Given the description of an element on the screen output the (x, y) to click on. 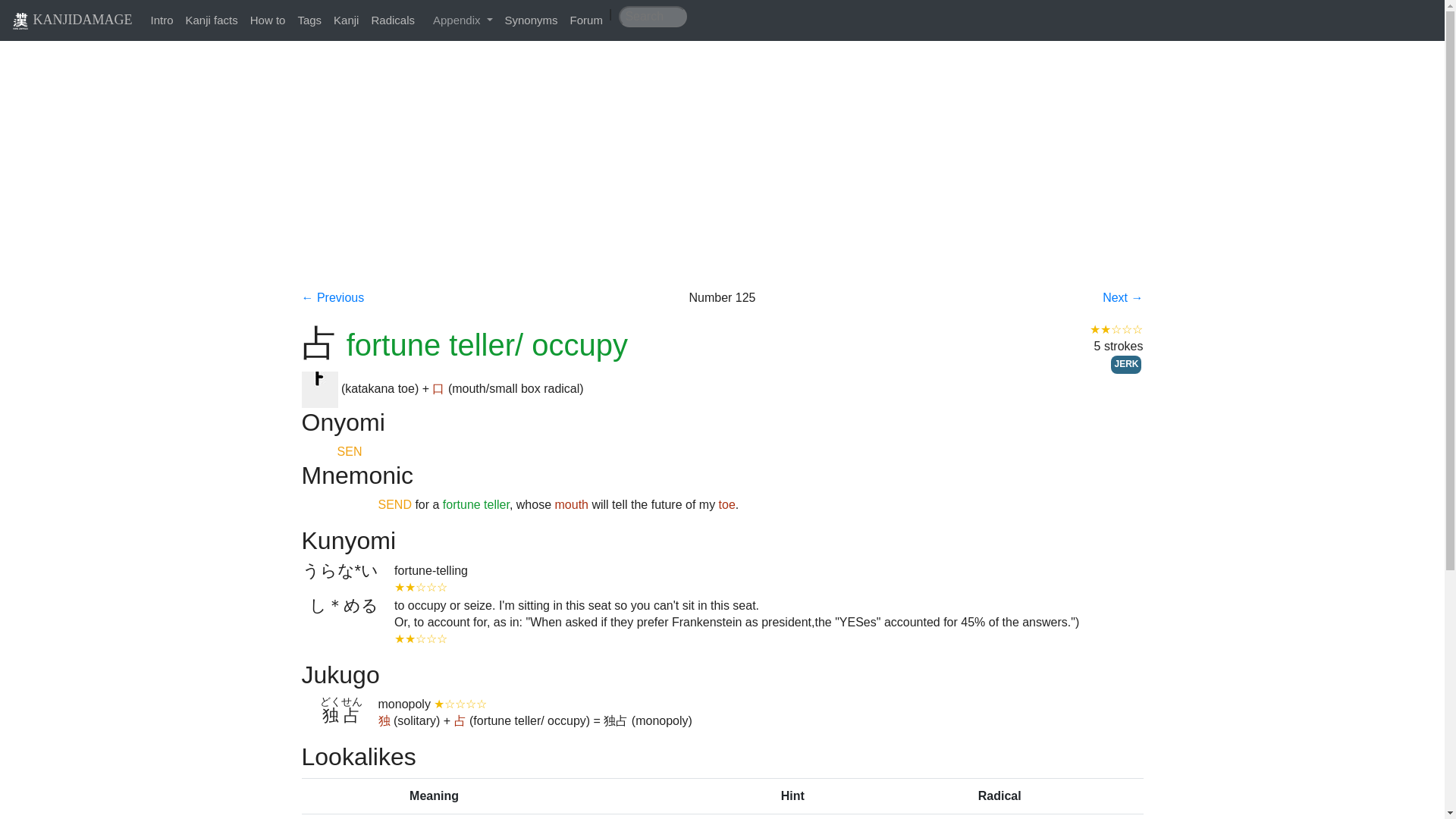
JERK (1125, 364)
How to (268, 16)
2 out of 5 stars (420, 586)
Tags (309, 16)
2 out of 5 stars (420, 638)
Kanji (346, 16)
Radicals (392, 16)
Synonyms (531, 16)
Kanji facts (211, 16)
Intro (161, 16)
1 out of 5 stars (459, 703)
Appendix (462, 20)
KANJIDAMAGE (71, 19)
Forum (586, 16)
